Given the description of an element on the screen output the (x, y) to click on. 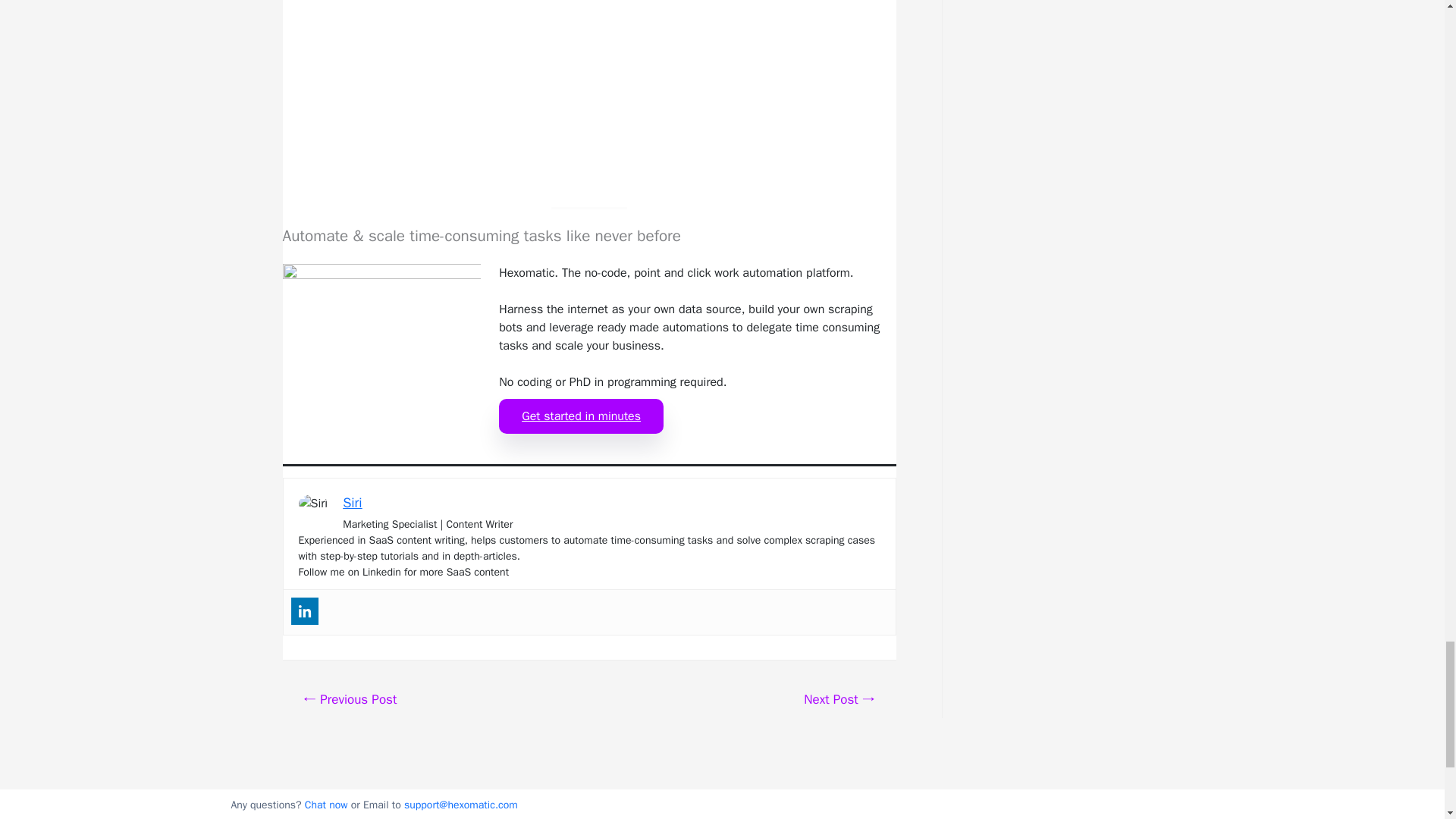
Get started in minutes (581, 416)
Linkedin (304, 610)
Siri (352, 502)
